Given the description of an element on the screen output the (x, y) to click on. 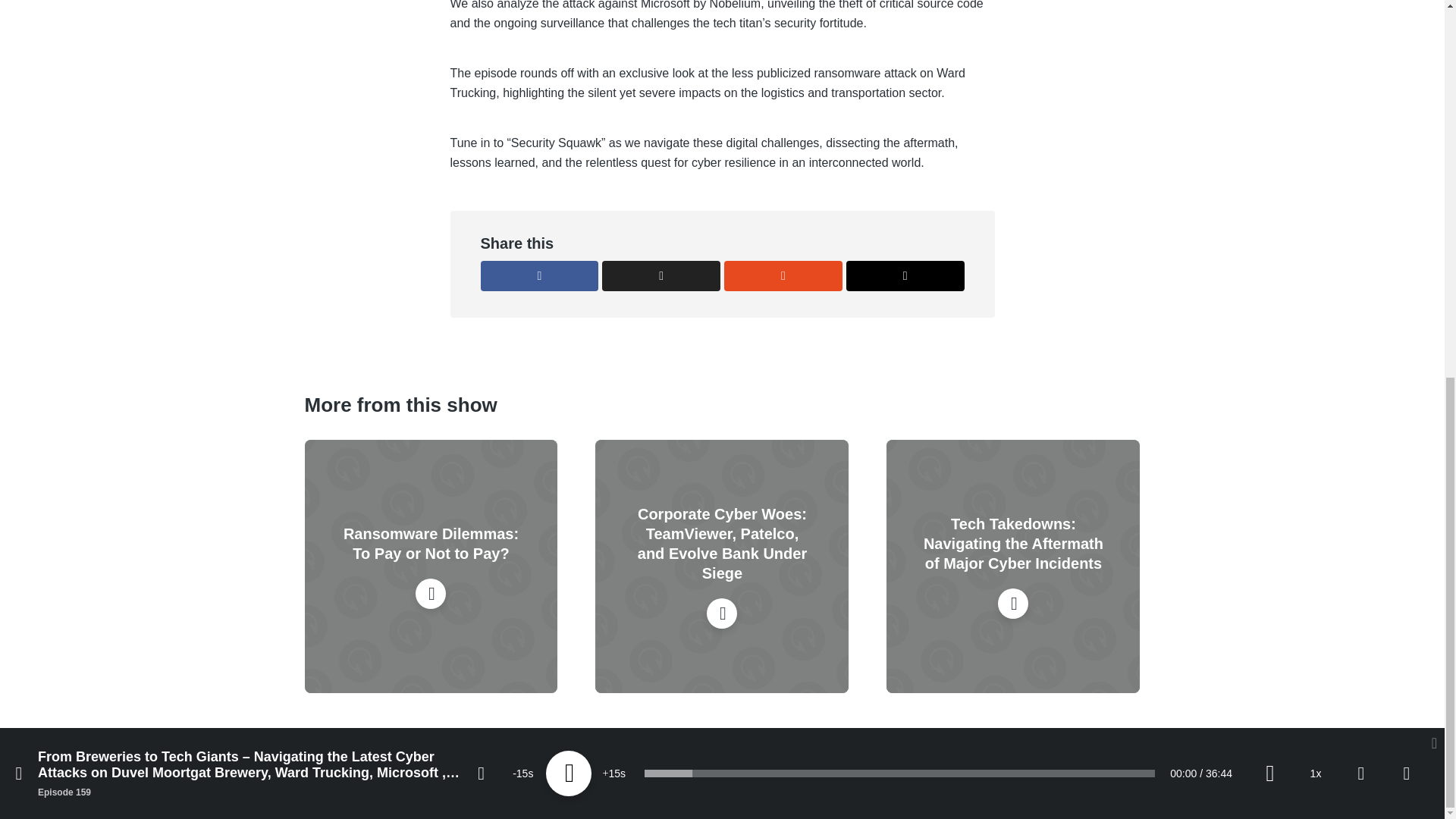
Play (568, 75)
Jump forward 15 seconds (614, 75)
Skip back 15 seconds (523, 75)
Subscribe (1361, 75)
Meks (371, 776)
Ransomware Dilemmas: To Pay or Not to Pay? (430, 543)
Speed Rate (1315, 75)
share (1406, 75)
Mute (1269, 75)
